Given the description of an element on the screen output the (x, y) to click on. 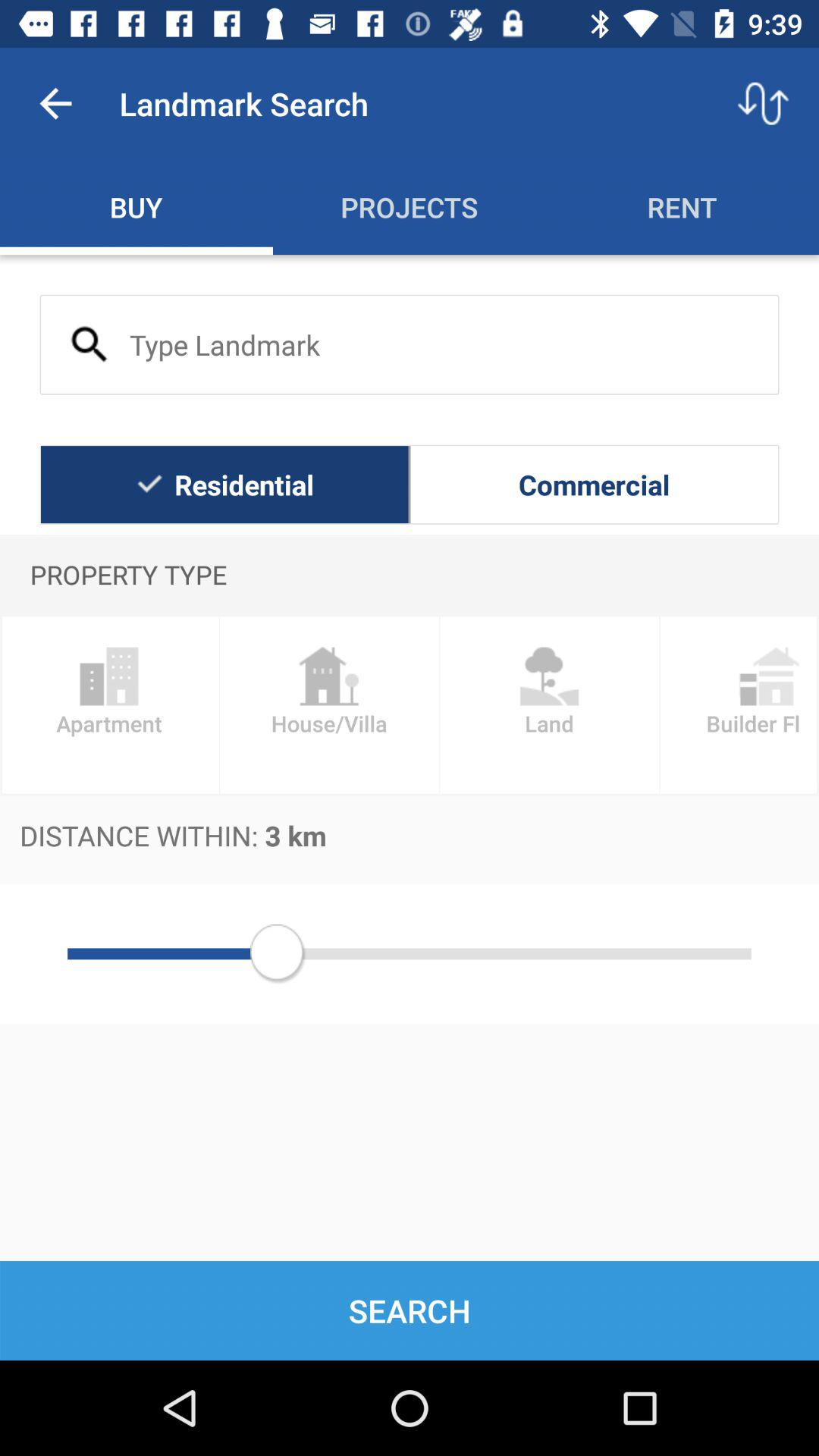
open the icon below property type icon (549, 704)
